Given the description of an element on the screen output the (x, y) to click on. 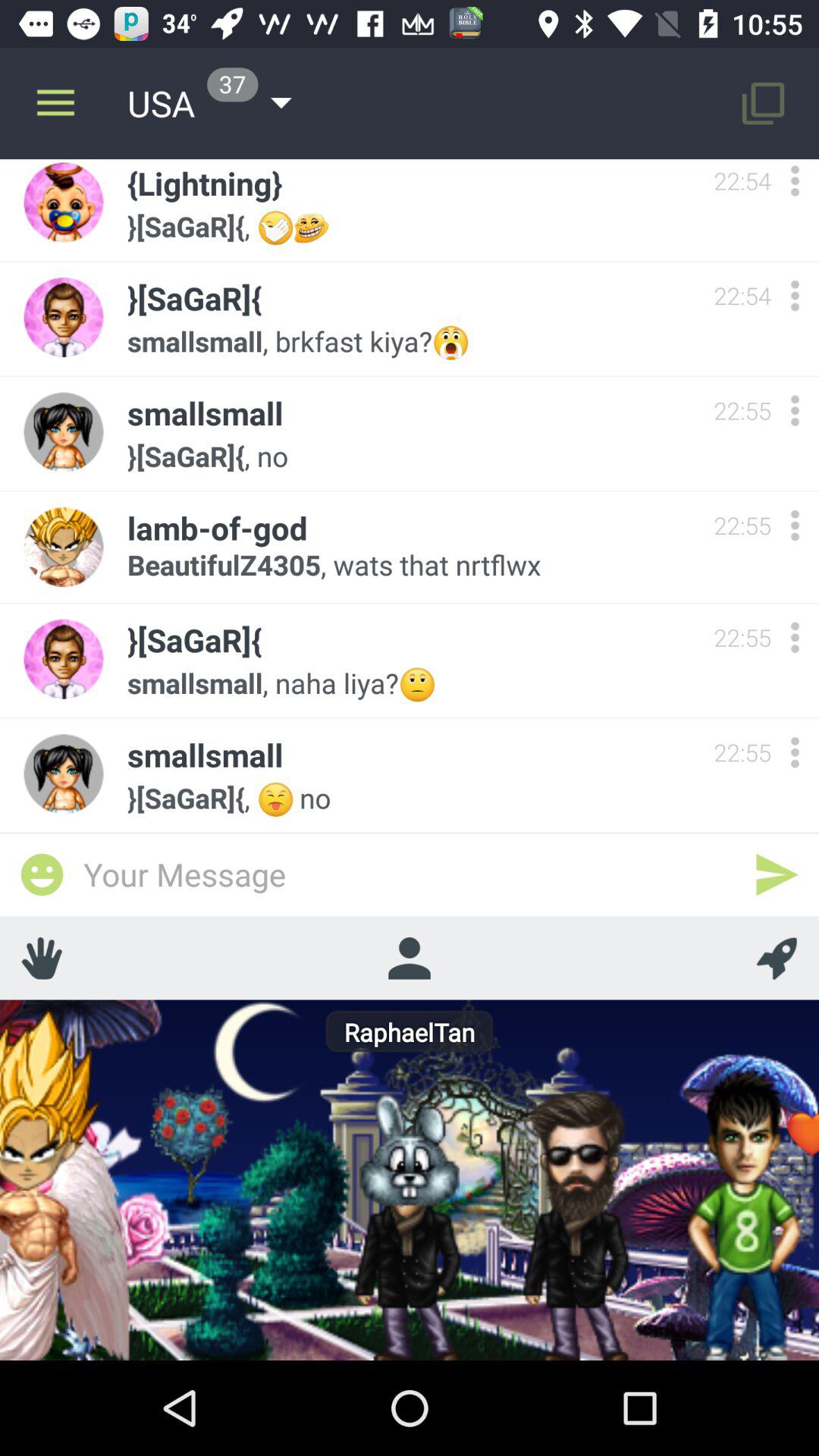
upload icon (777, 957)
